Given the description of an element on the screen output the (x, y) to click on. 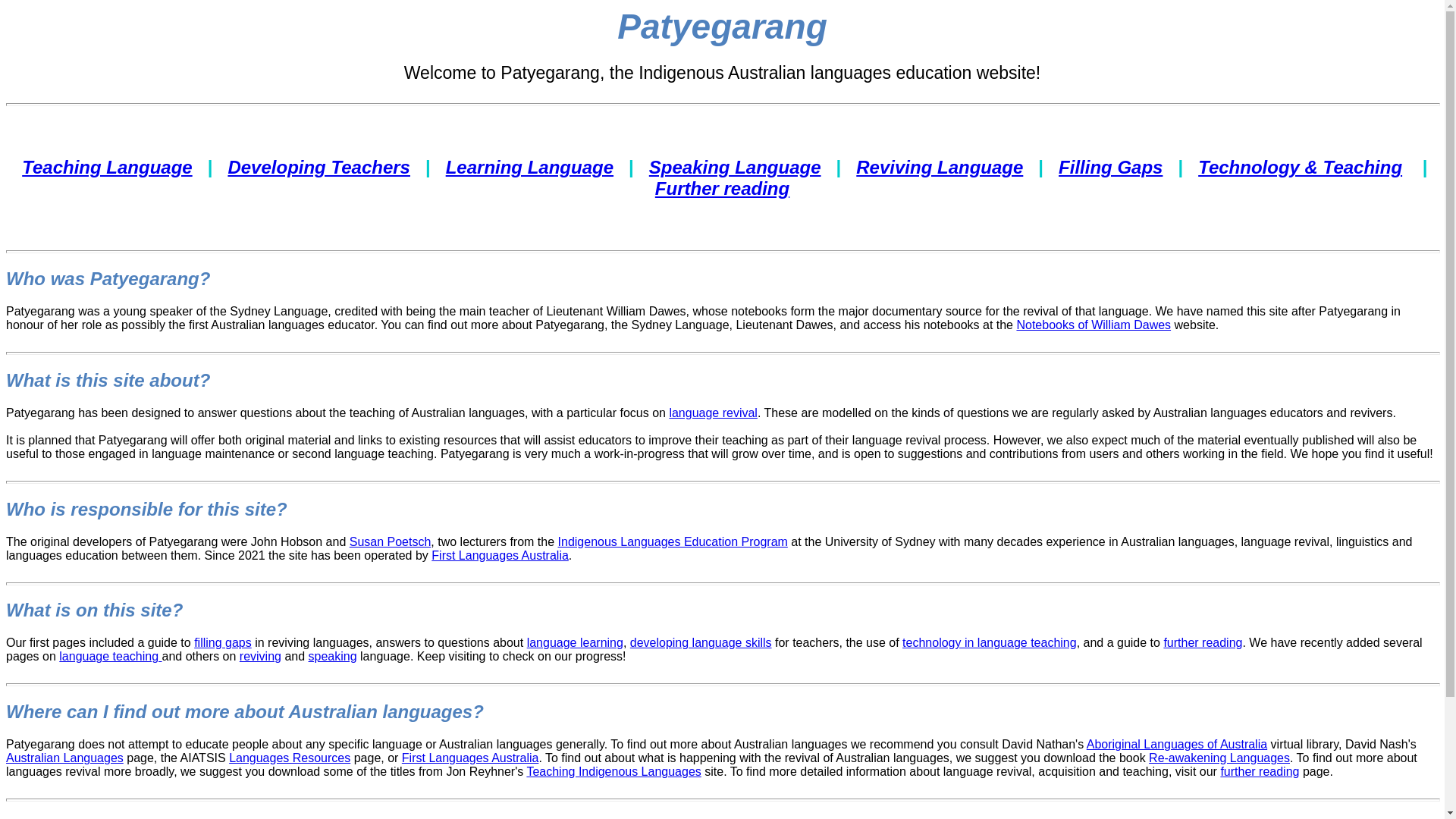
Re-awakening Languages Element type: text (1218, 757)
Technology & Teaching Element type: text (1300, 166)
further reading Element type: text (1202, 642)
technology in language teaching Element type: text (989, 642)
Languages Resources Element type: text (289, 757)
language learning Element type: text (575, 642)
Notebooks of William Dawes Element type: text (1093, 324)
Reviving Language Element type: text (939, 166)
Further reading Element type: text (722, 188)
Speaking Language Element type: text (735, 166)
Developing Teachers Element type: text (318, 166)
Filling Gaps Element type: text (1110, 166)
language teaching Element type: text (110, 655)
Teaching Language Element type: text (106, 166)
developing language skills Element type: text (700, 642)
filling gaps Element type: text (222, 642)
Aboriginal Languages of Australia Element type: text (1176, 743)
Indigenous Languages Education Program Element type: text (672, 541)
Australian Languages Element type: text (64, 757)
reviving Element type: text (260, 655)
further reading Element type: text (1259, 771)
speaking Element type: text (332, 655)
language revival Element type: text (712, 412)
First Languages Australia Element type: text (499, 555)
Learning Language Element type: text (529, 166)
Teaching Indigenous Languages Element type: text (613, 771)
First Languages Australia Element type: text (470, 757)
Susan Poetsch Element type: text (390, 541)
